Given the description of an element on the screen output the (x, y) to click on. 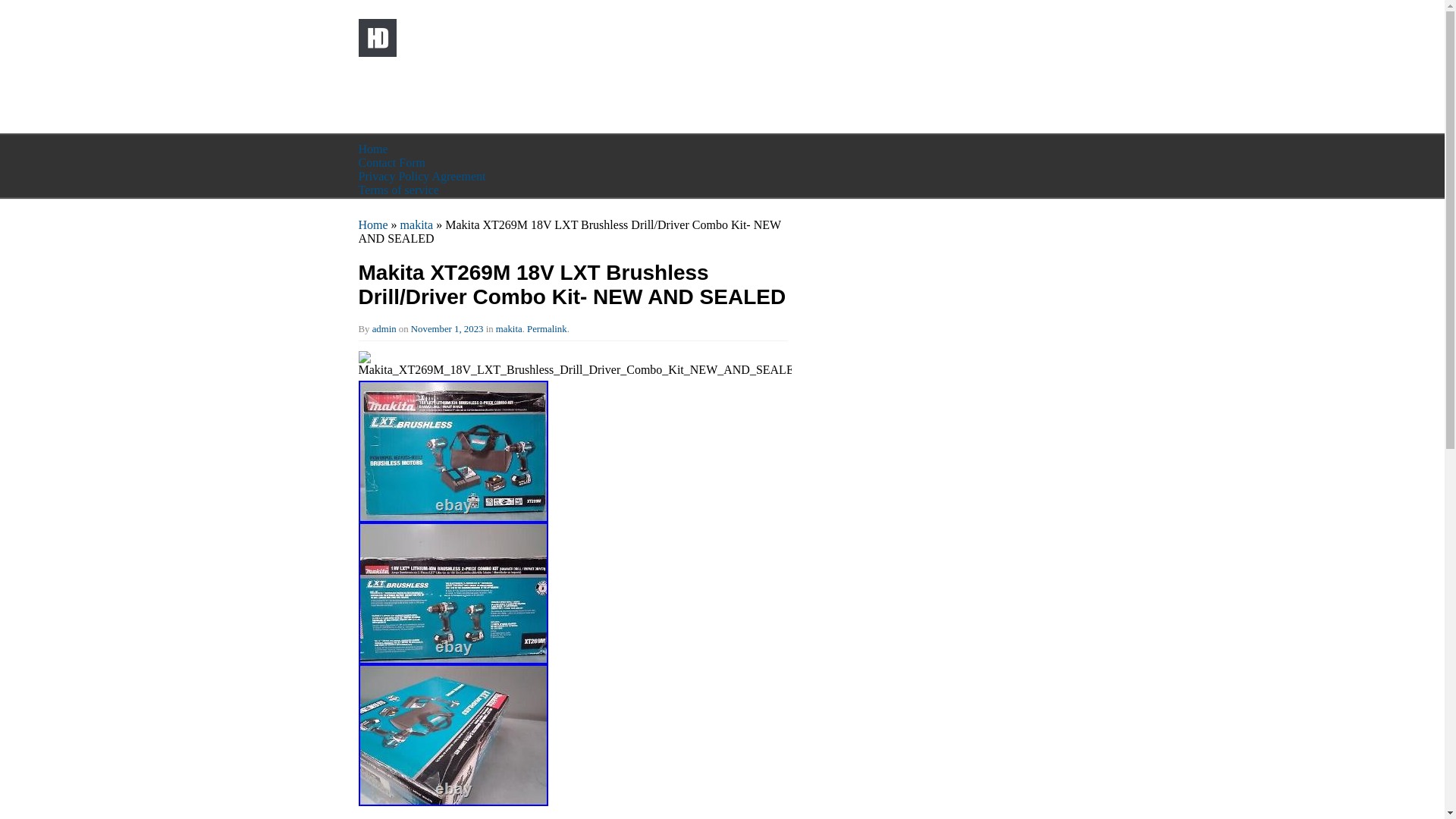
4:31 pm (446, 328)
November 1, 2023 (446, 328)
Privacy Policy Agreement (421, 175)
Permalink (547, 328)
Home (372, 148)
makita (416, 224)
View all posts by admin (384, 328)
Makita Power Tools (528, 62)
Contact Form (391, 162)
admin (384, 328)
makita (509, 328)
Home (372, 224)
Terms of service (398, 189)
